Given the description of an element on the screen output the (x, y) to click on. 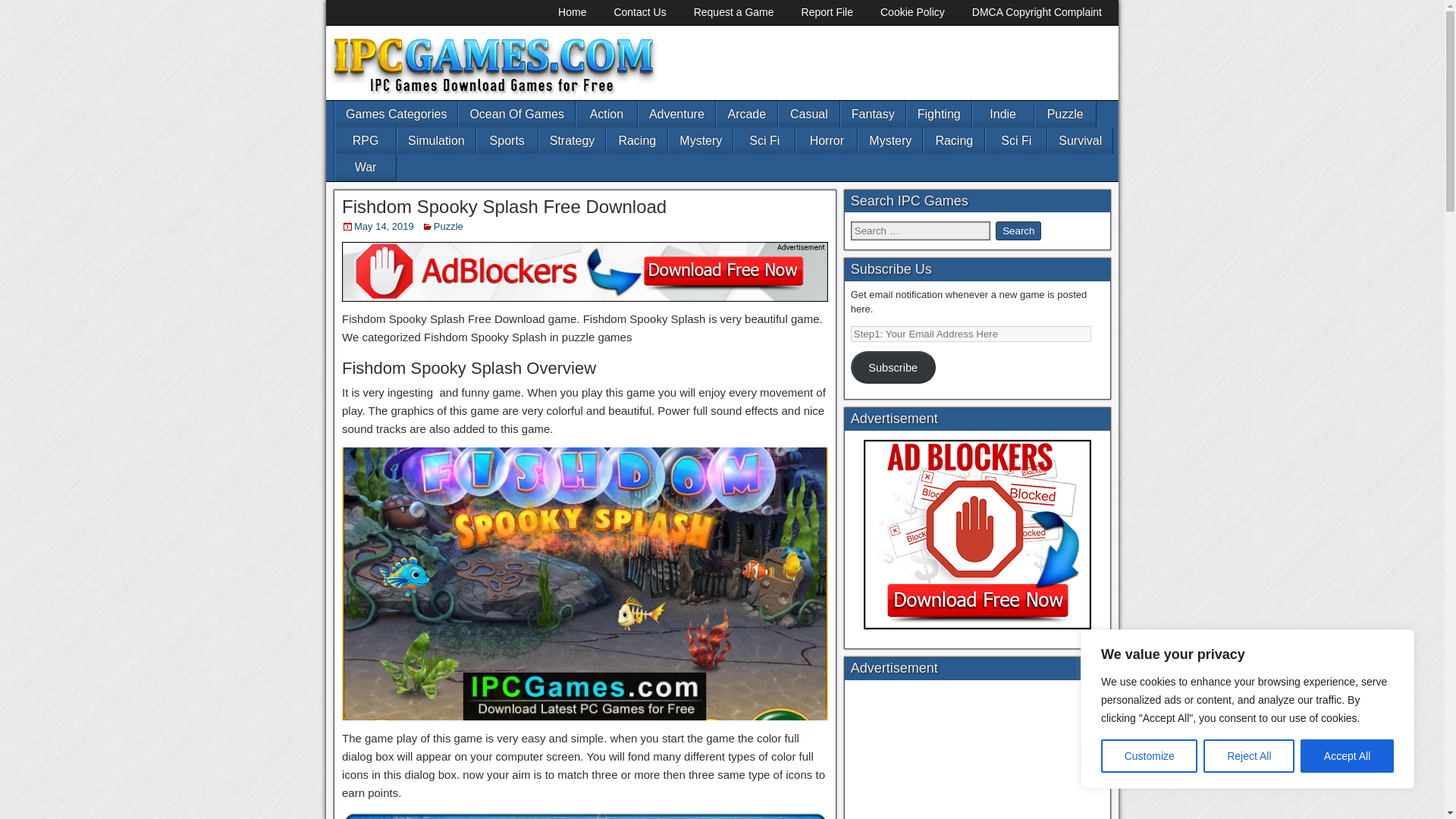
Report File (826, 12)
Fighting (939, 113)
Strategy (571, 140)
Contact Us (639, 12)
Adventure (676, 113)
Arcade (746, 113)
Sports (507, 140)
RPG (365, 140)
Sci Fi (763, 140)
Racing (636, 140)
Cookie Policy (912, 12)
Home (571, 12)
Mystery (890, 140)
Action (606, 113)
Request a Game (733, 12)
